Given the description of an element on the screen output the (x, y) to click on. 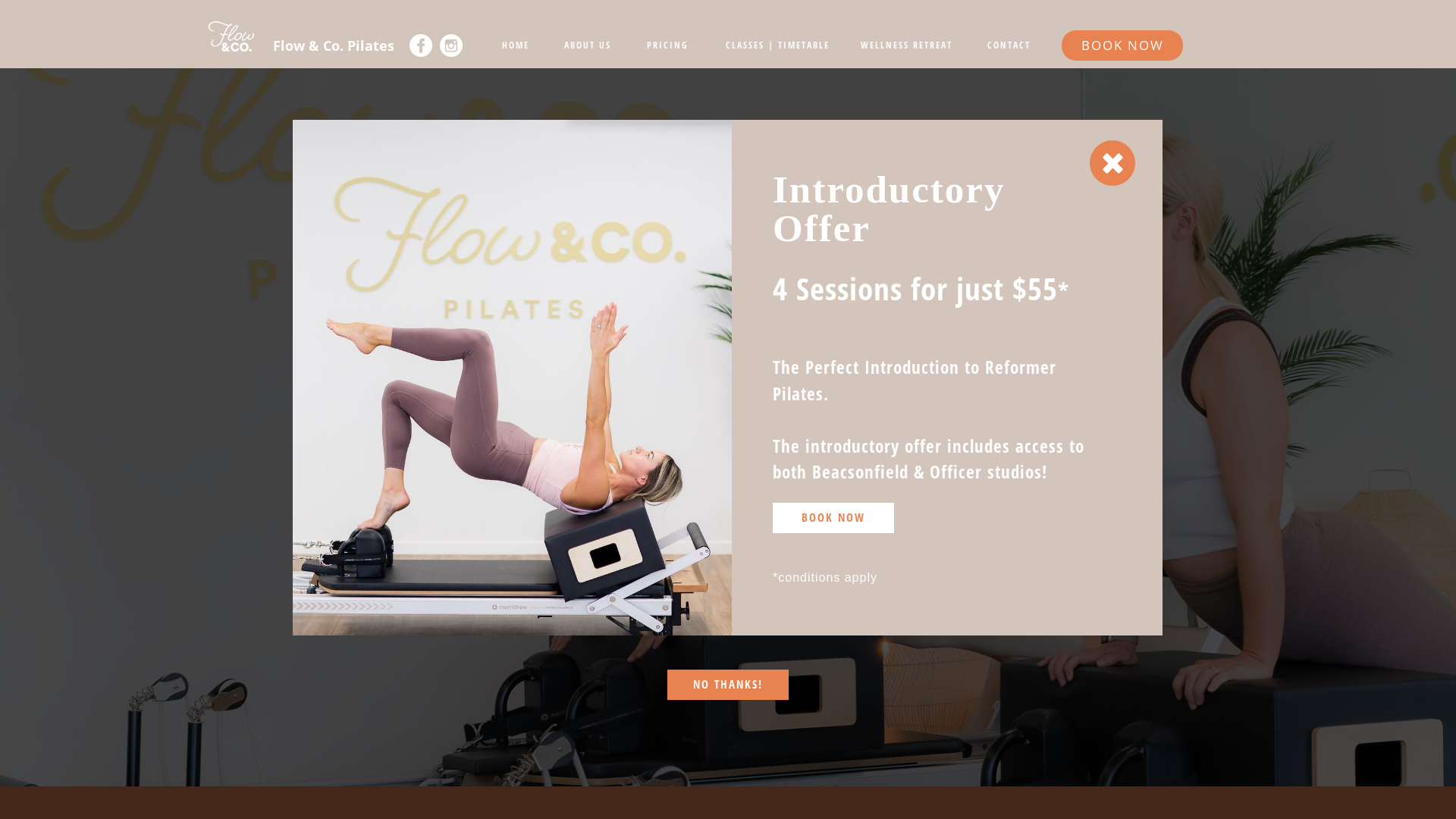
BOOK NOW Element type: text (727, 563)
BOOK NOW Element type: text (833, 517)
HOME Element type: text (515, 45)
CLASSES | TIMETABLE Element type: text (777, 45)
BOOK NOW Element type: text (1122, 45)
Flow & Co. Pilates Element type: text (333, 45)
NO THANKS! Element type: text (727, 684)
ABOUT US Element type: text (587, 45)
WELLNESS RETREAT Element type: text (905, 45)
CONTACT Element type: text (1008, 45)
PRICING Element type: text (667, 45)
